Given the description of an element on the screen output the (x, y) to click on. 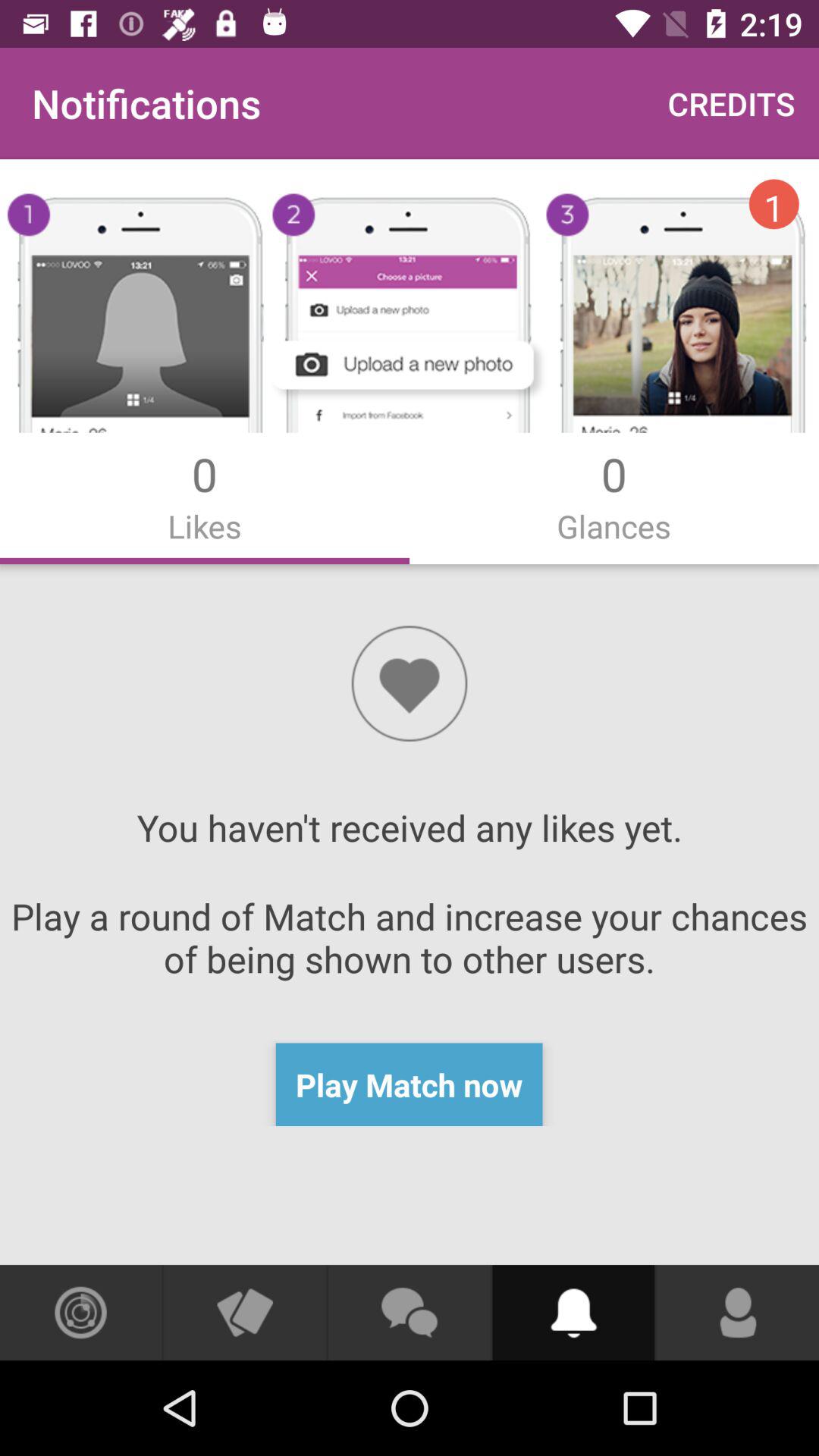
to choose the sound options (573, 1312)
